Given the description of an element on the screen output the (x, y) to click on. 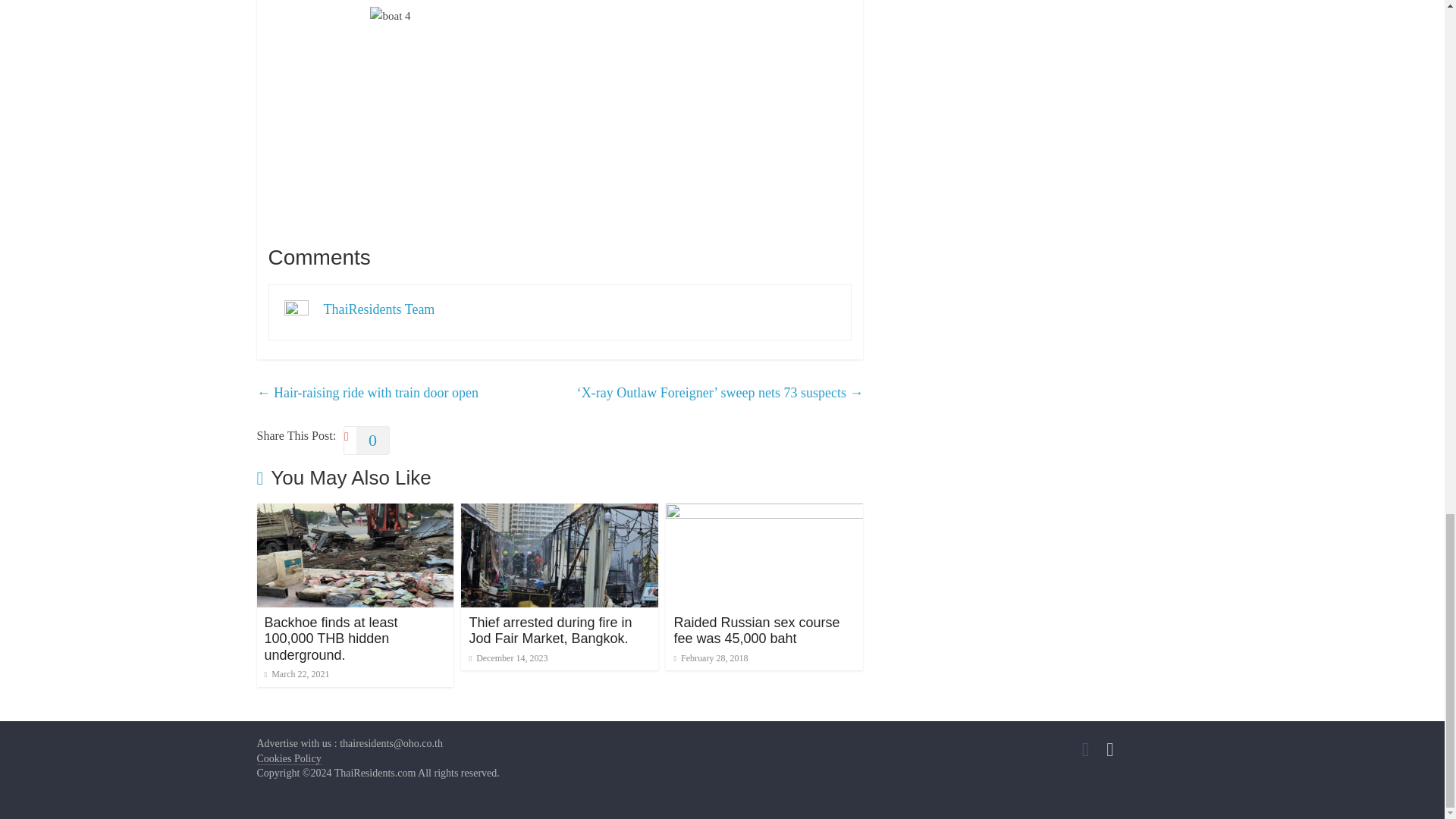
0 (366, 439)
Backhoe finds at least 100,000 THB hidden underground. (354, 512)
10:18 am (507, 657)
Backhoe finds at least 100,000 THB hidden underground. (330, 638)
Thief arrested during fire in Jod Fair Market, Bangkok. (549, 631)
Thief arrested during fire in Jod Fair Market, Bangkok. (549, 631)
Backhoe finds at least 100,000 THB hidden underground. (330, 638)
8:53 am (296, 674)
March 22, 2021 (296, 674)
December 14, 2023 (507, 657)
Thief arrested during fire in Jod Fair Market, Bangkok. (559, 512)
ThaiResidents Team (378, 309)
